Given the description of an element on the screen output the (x, y) to click on. 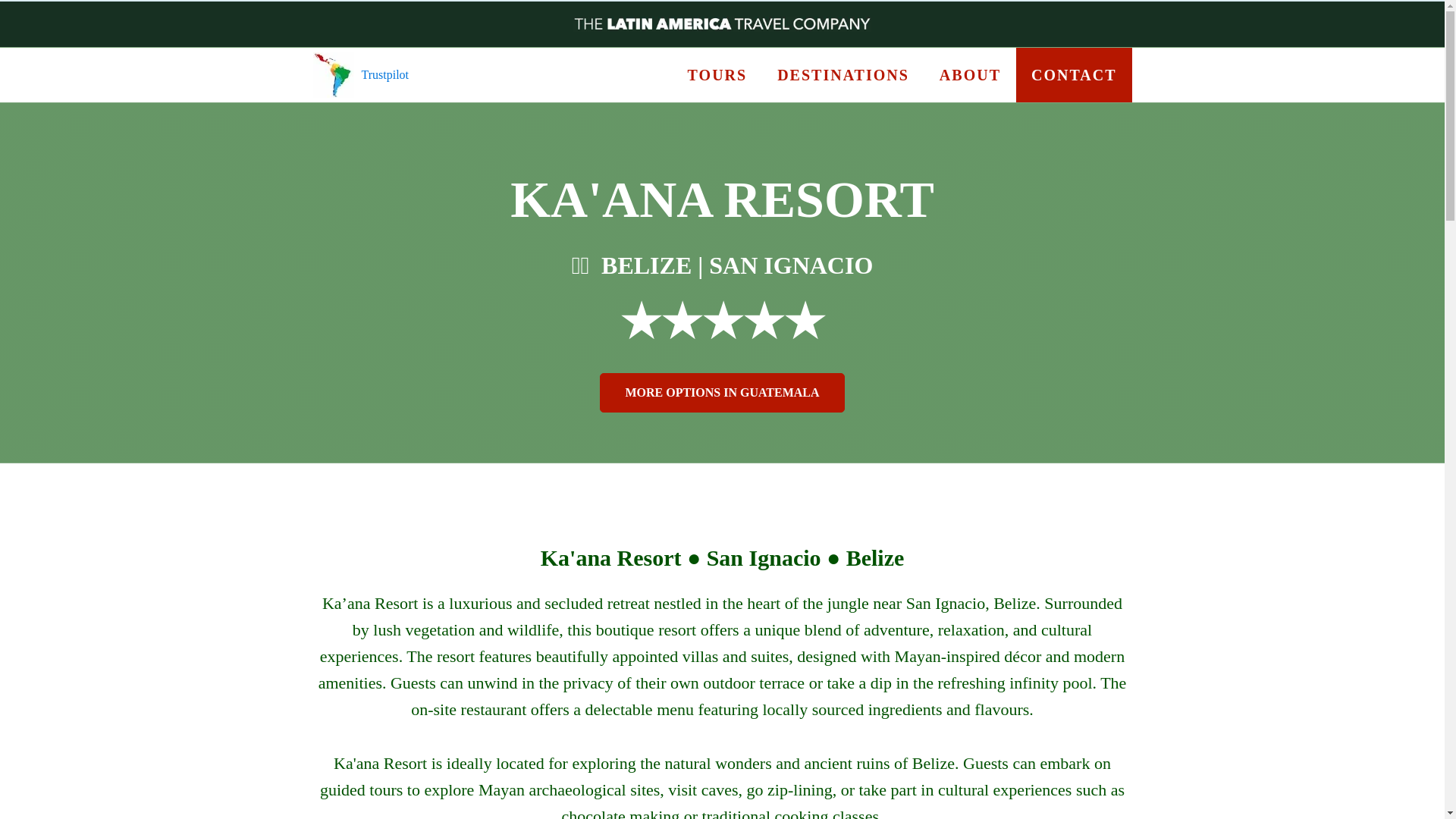
DESTINATIONS (842, 74)
TOURS (717, 74)
Trustpilot (385, 74)
